Given the description of an element on the screen output the (x, y) to click on. 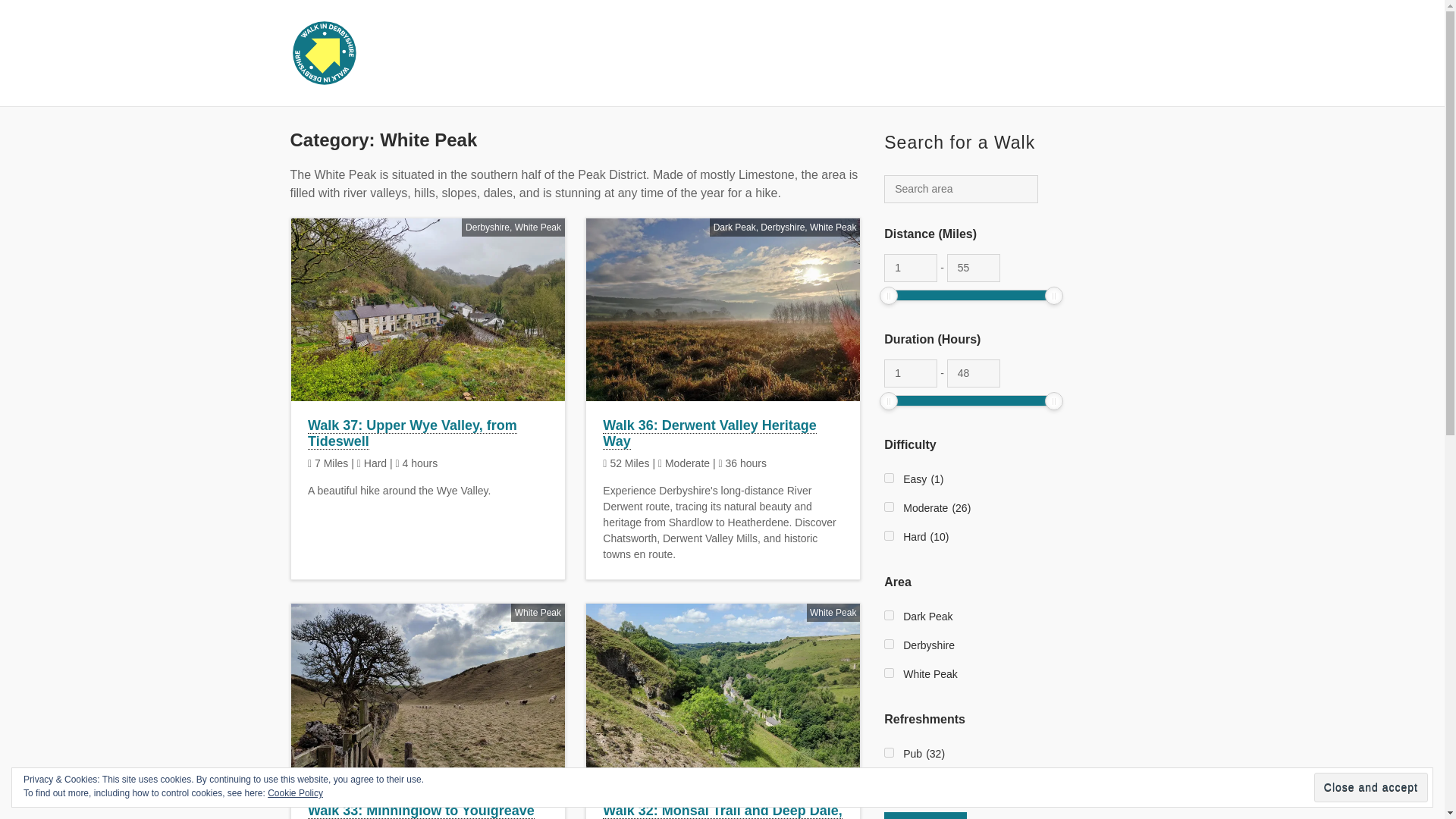
White Peak (537, 226)
Trig Point Map (1045, 54)
Moderate (888, 506)
Easy (888, 478)
Dark Peak (734, 226)
Derbyshire (782, 226)
Close and accept (1371, 787)
white-peak (888, 672)
1 (910, 373)
1 (910, 267)
